Given the description of an element on the screen output the (x, y) to click on. 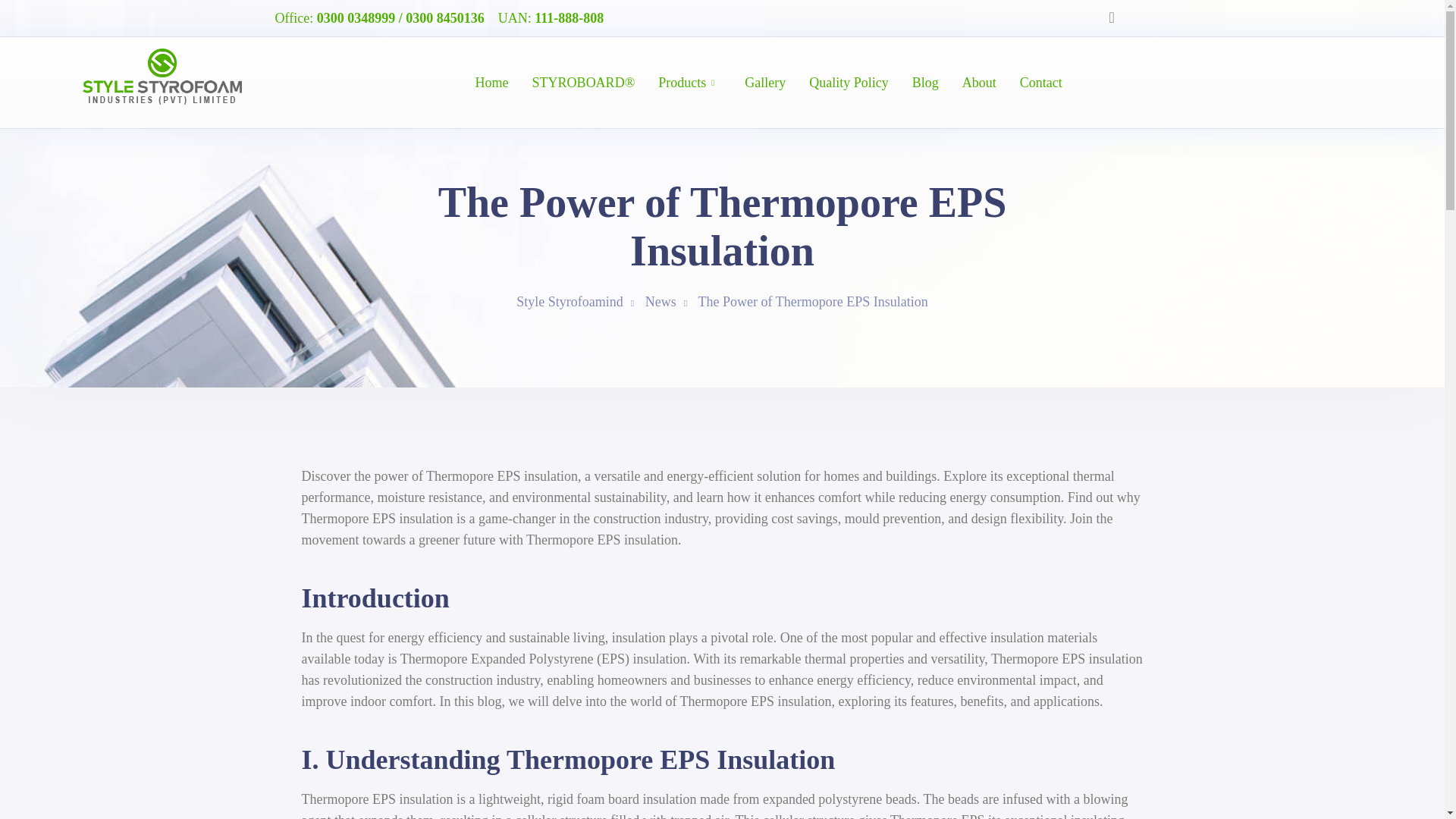
Gallery (765, 82)
Quality Policy (848, 82)
Go to the News Category archives. (661, 301)
About (978, 82)
Go to Style Styrofoamind. (569, 301)
Products (682, 82)
Blog (925, 82)
News (661, 301)
Home (492, 82)
Style Styrofoamind (569, 301)
Contact (1041, 82)
